Given the description of an element on the screen output the (x, y) to click on. 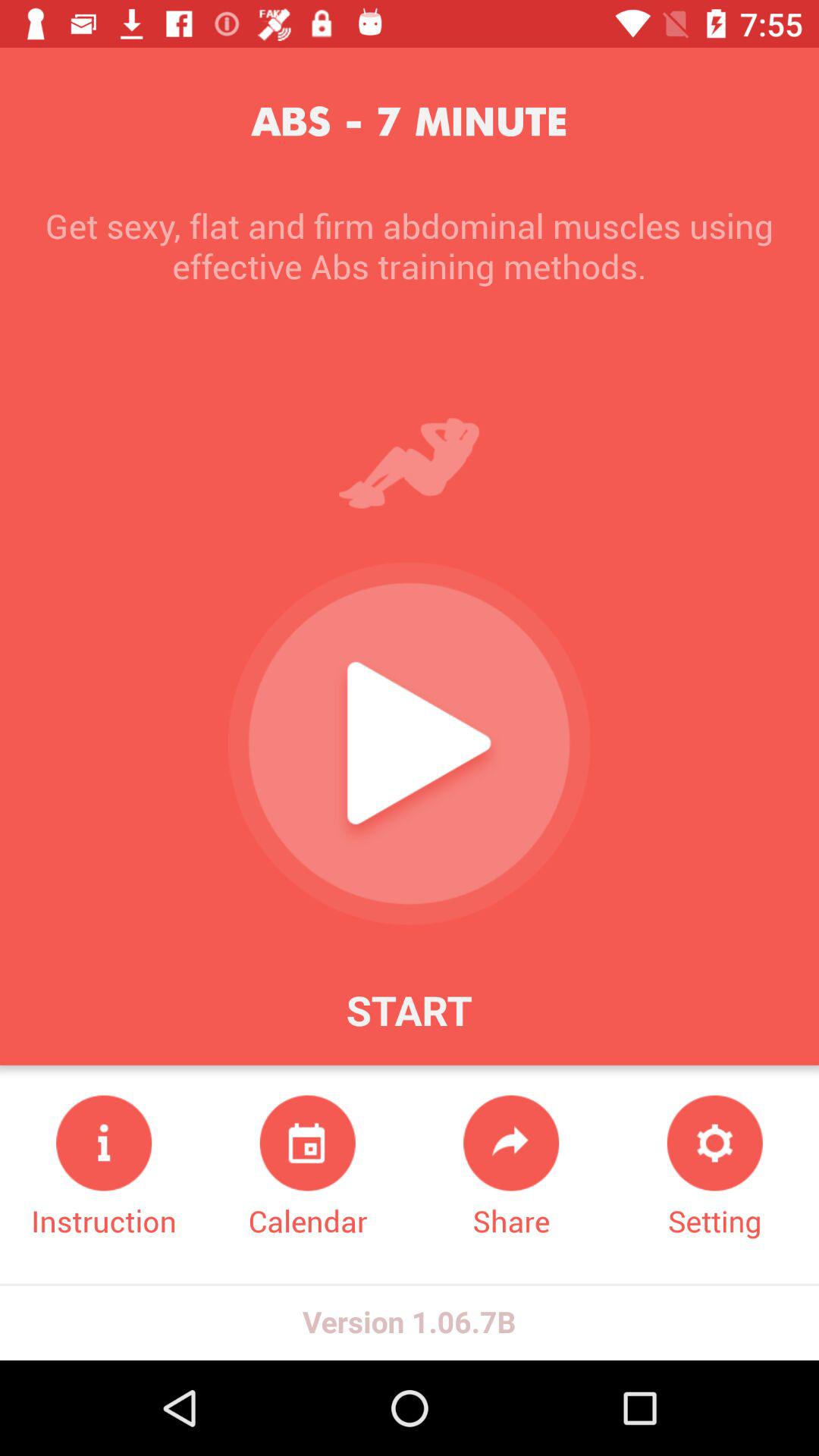
launch the item next to share (714, 1168)
